Given the description of an element on the screen output the (x, y) to click on. 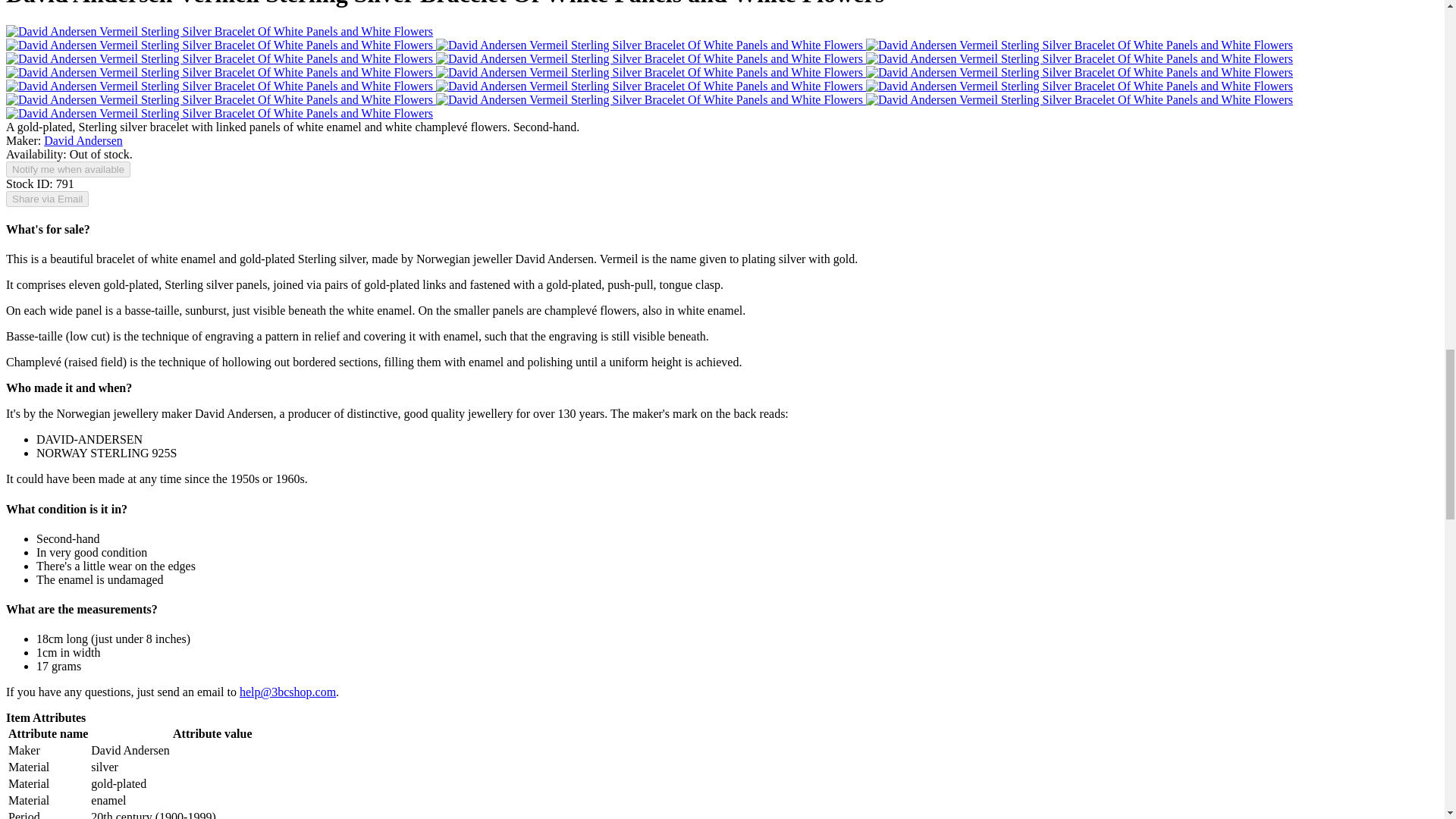
Share via Email (46, 198)
Notify me when available (68, 169)
